Given the description of an element on the screen output the (x, y) to click on. 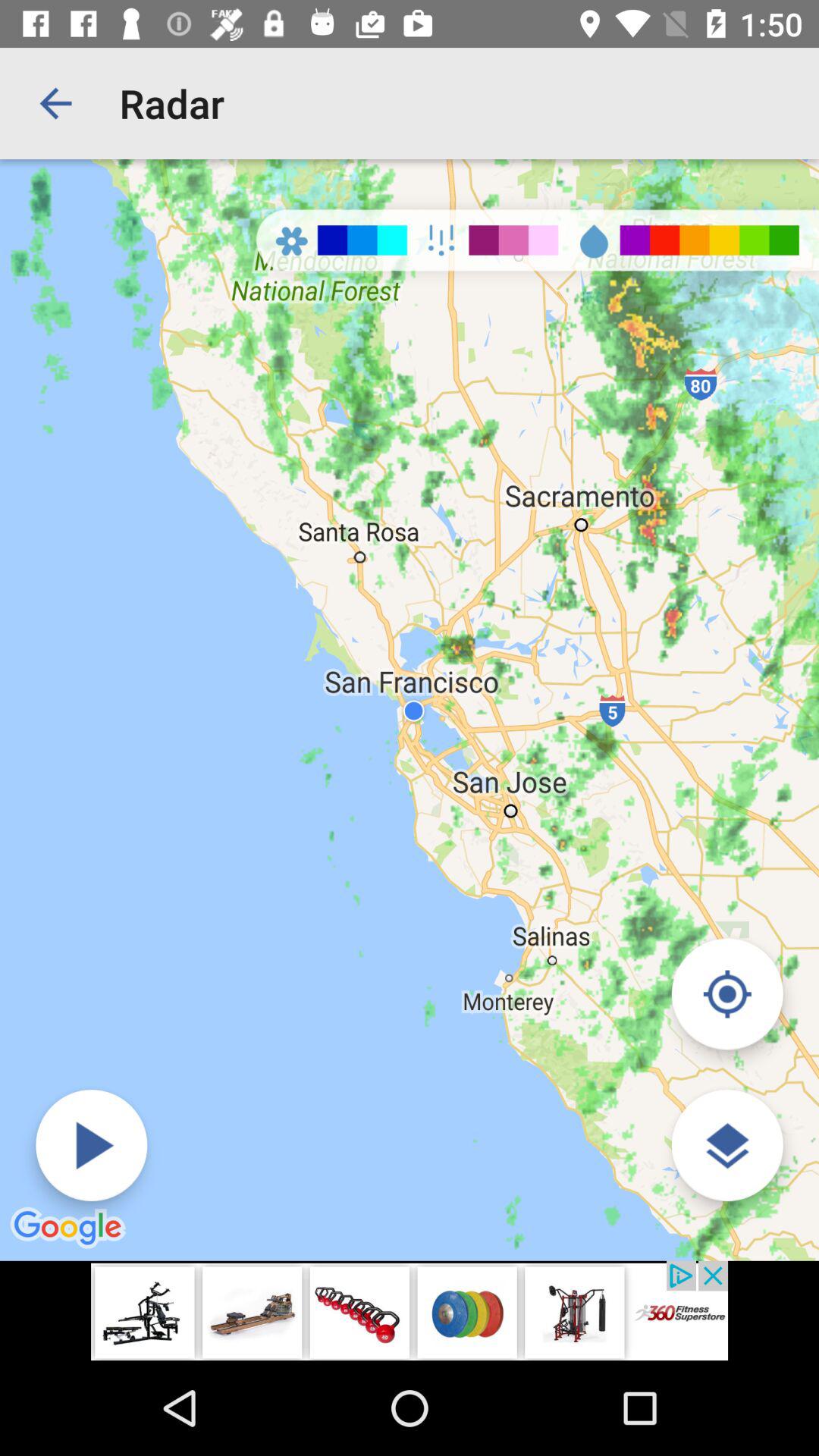
go to location option (727, 993)
